Given the description of an element on the screen output the (x, y) to click on. 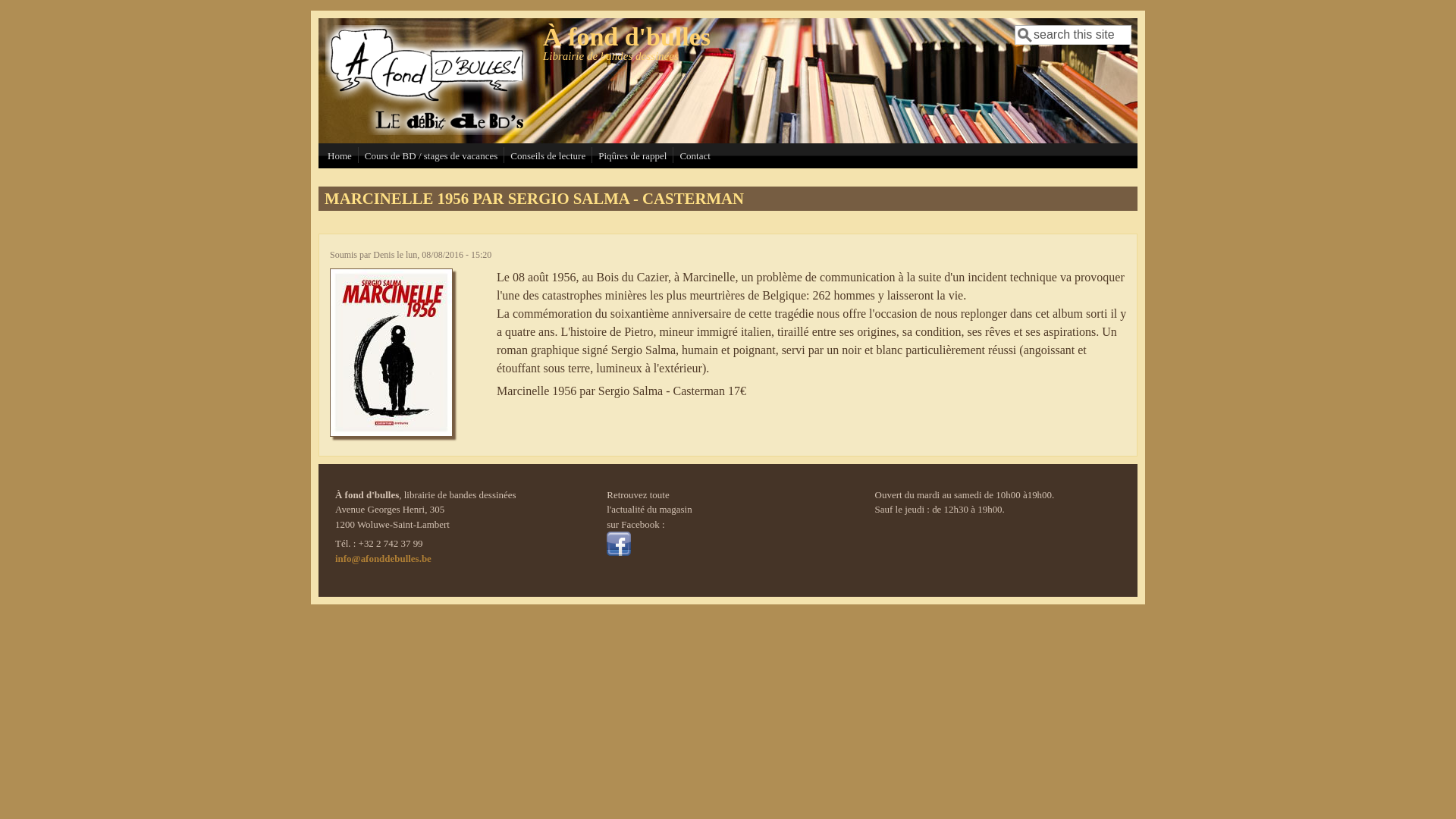
Contact Element type: text (694, 155)
Accueil Element type: hover (429, 130)
Conseils de lecture Element type: text (547, 155)
Home Element type: text (339, 155)
Marcinelle 1956 par Sergio Salma - Casterman Element type: hover (390, 432)
Aller au contenu principal Element type: text (63, 10)
Cours de BD / stages de vacances Element type: text (430, 155)
info@afonddebulles.be Element type: text (383, 558)
